Given the description of an element on the screen output the (x, y) to click on. 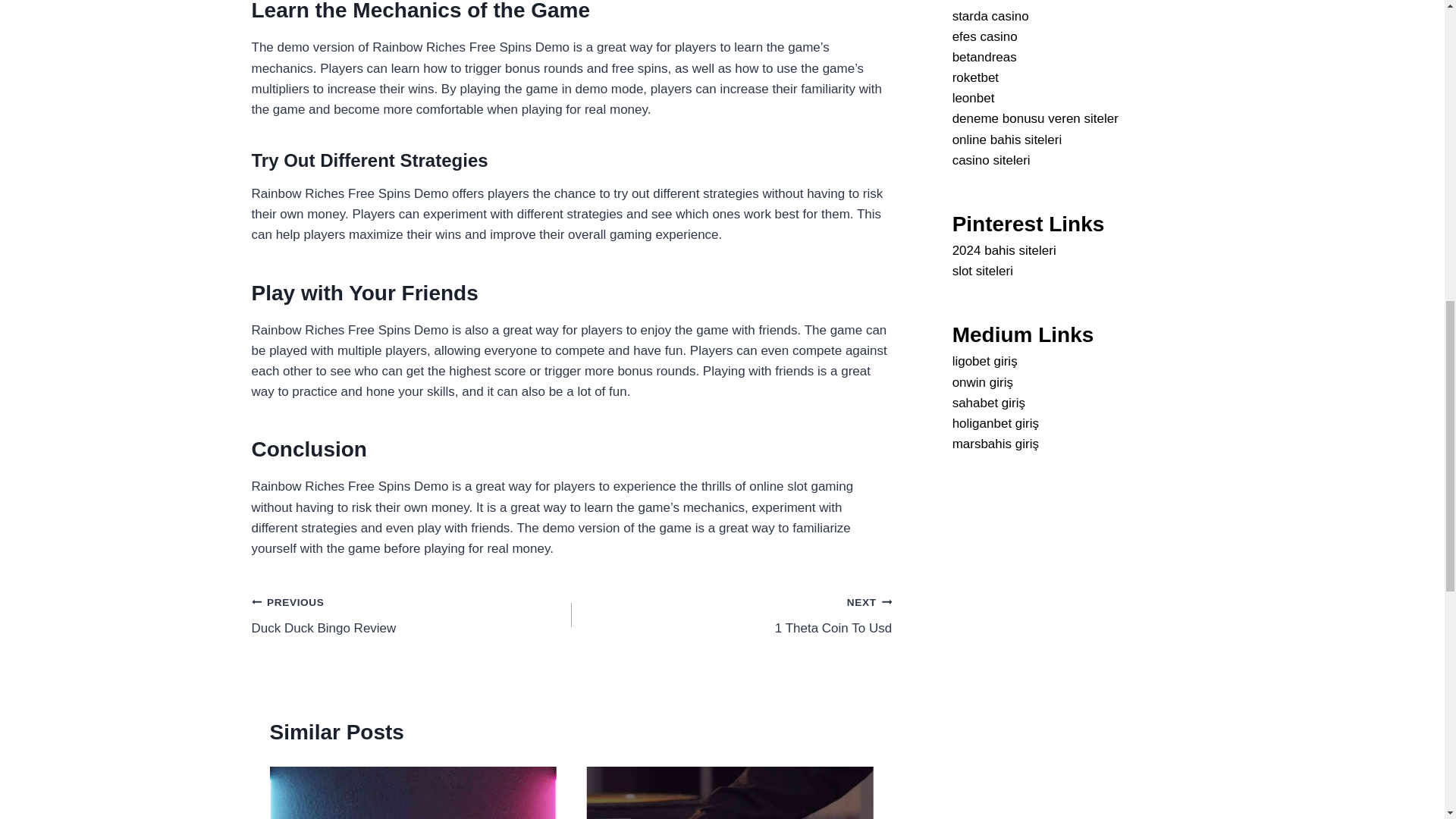
online bahis siteleri (1007, 139)
leonbet (973, 97)
roketbet (731, 615)
starda casino (975, 77)
efes casino (990, 16)
casino siteleri (411, 615)
deneme bonusu veren siteler (984, 36)
2024 bahis siteleri (991, 160)
betandreas (1035, 118)
